Given the description of an element on the screen output the (x, y) to click on. 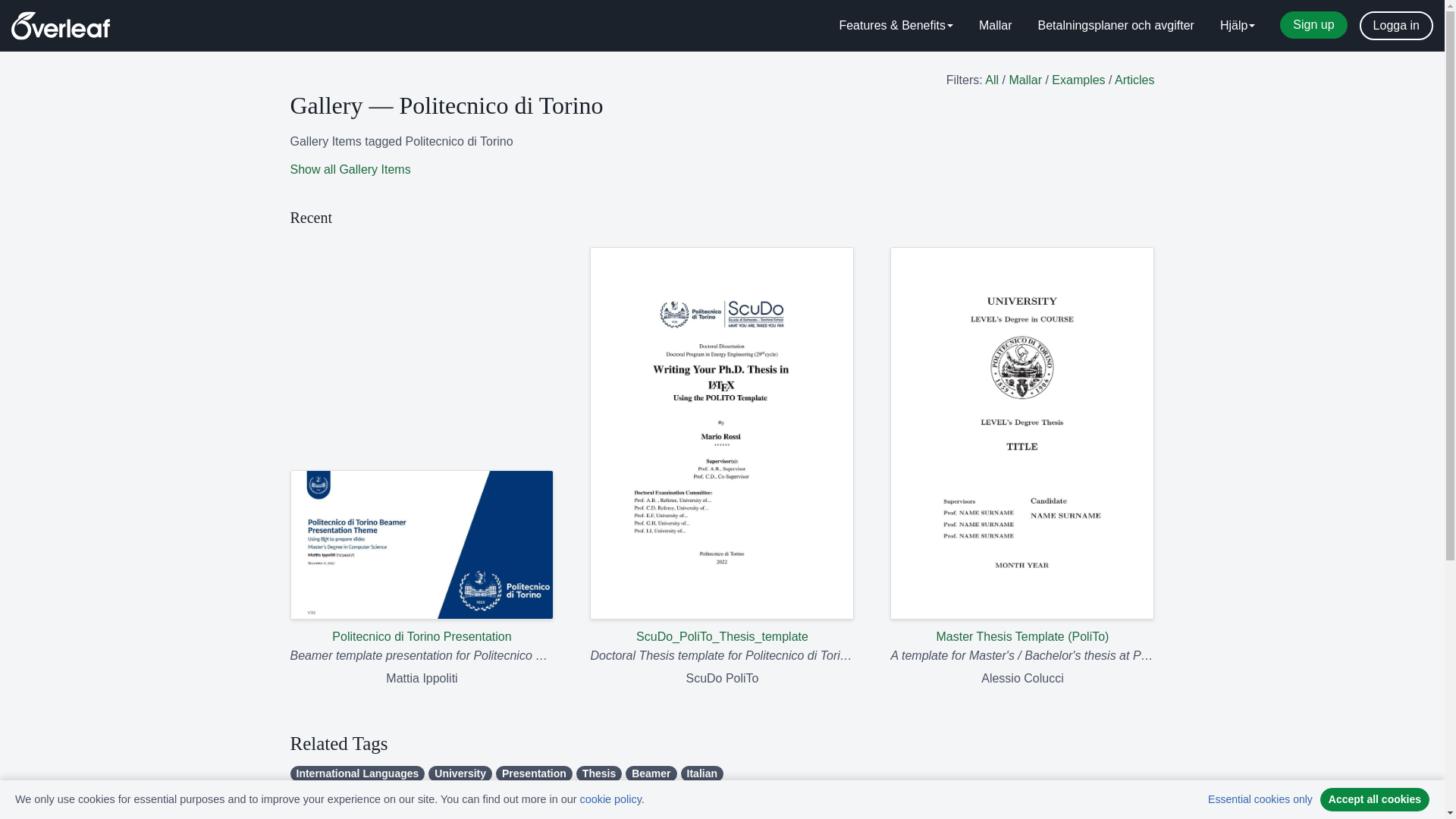
Show all Gallery Items (349, 169)
Articles (1134, 79)
All (991, 79)
Logga in (1395, 25)
Italian (702, 773)
Thesis (598, 773)
Presentation (534, 773)
Mallar (1025, 79)
Beamer (651, 773)
Mallar (995, 25)
Examples (1078, 79)
Politecnico di Torino Presentation (421, 558)
International Languages (357, 773)
University (460, 773)
Sign up (1312, 24)
